Given the description of an element on the screen output the (x, y) to click on. 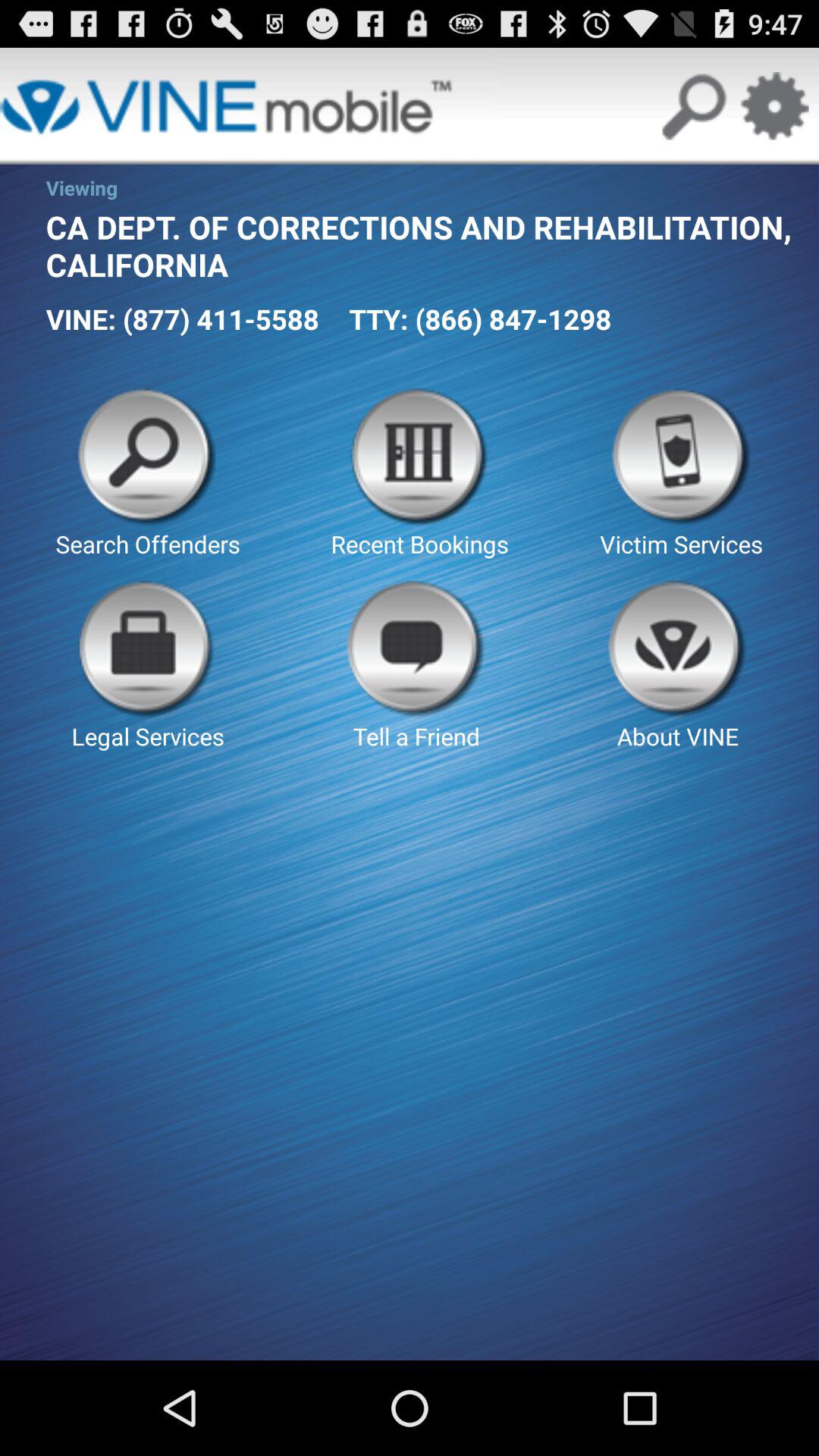
turn on app next to vine 877 411 app (480, 318)
